Given the description of an element on the screen output the (x, y) to click on. 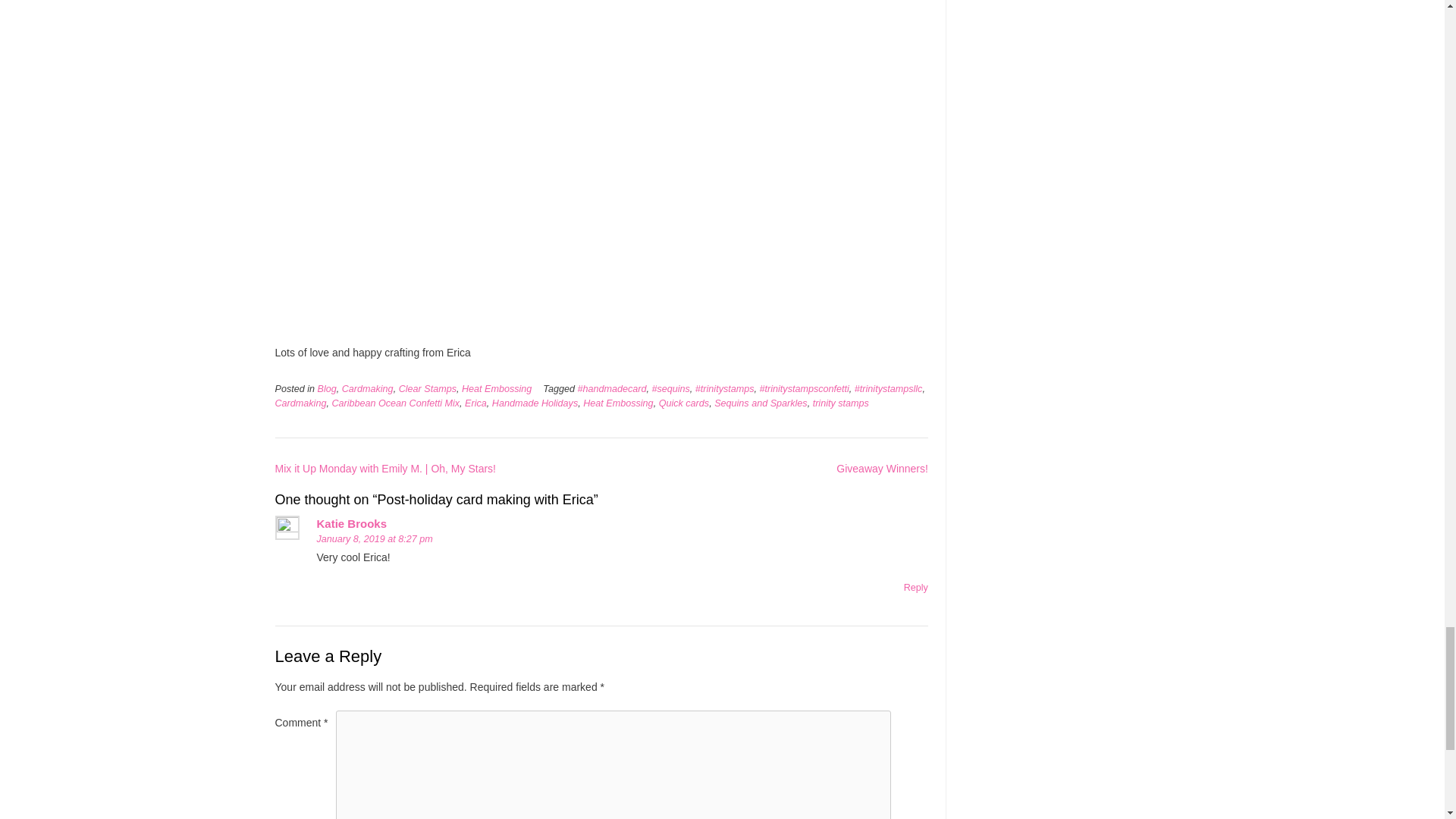
Heat Embossing (496, 388)
Handmade Holidays (535, 403)
Heat Embossing (617, 403)
Giveaway Winners! (881, 468)
Cardmaking (367, 388)
Blog (326, 388)
Cardmaking (300, 403)
Caribbean Ocean Confetti Mix (395, 403)
trinity stamps (840, 403)
Clear Stamps (427, 388)
Erica (475, 403)
Katie Brooks (352, 522)
January 8, 2019 at 8:27 pm (374, 538)
Sequins and Sparkles (761, 403)
Quick cards (684, 403)
